Given the description of an element on the screen output the (x, y) to click on. 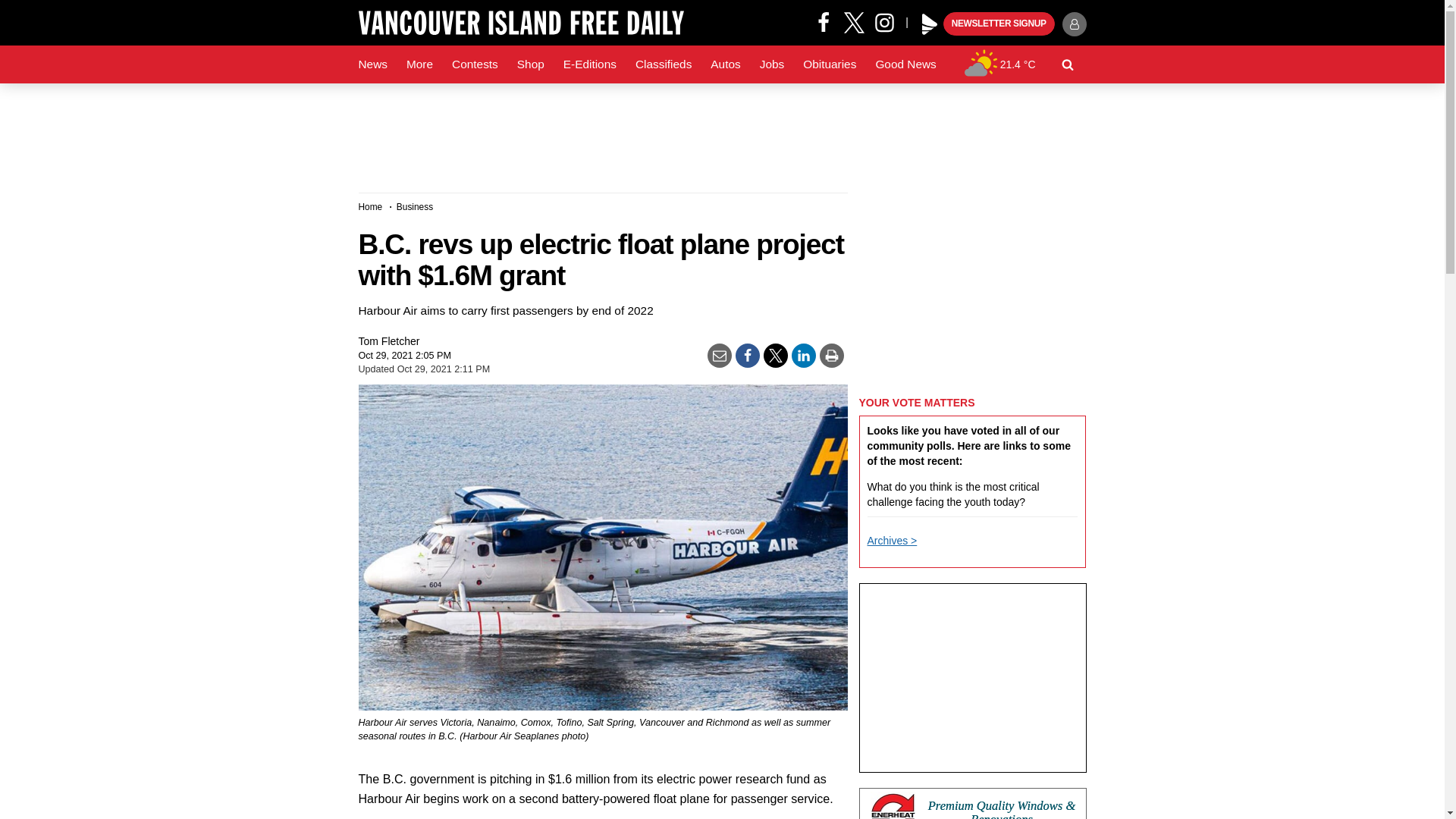
Facebook (823, 21)
3rd party ad content (972, 287)
3rd party ad content (972, 678)
3rd party ad content (721, 131)
X (853, 21)
Play (929, 24)
Instagram (889, 21)
3rd party ad content (972, 803)
News (372, 64)
NEWSLETTER SIGNUP (998, 24)
Black Press Media (929, 24)
